Given the description of an element on the screen output the (x, y) to click on. 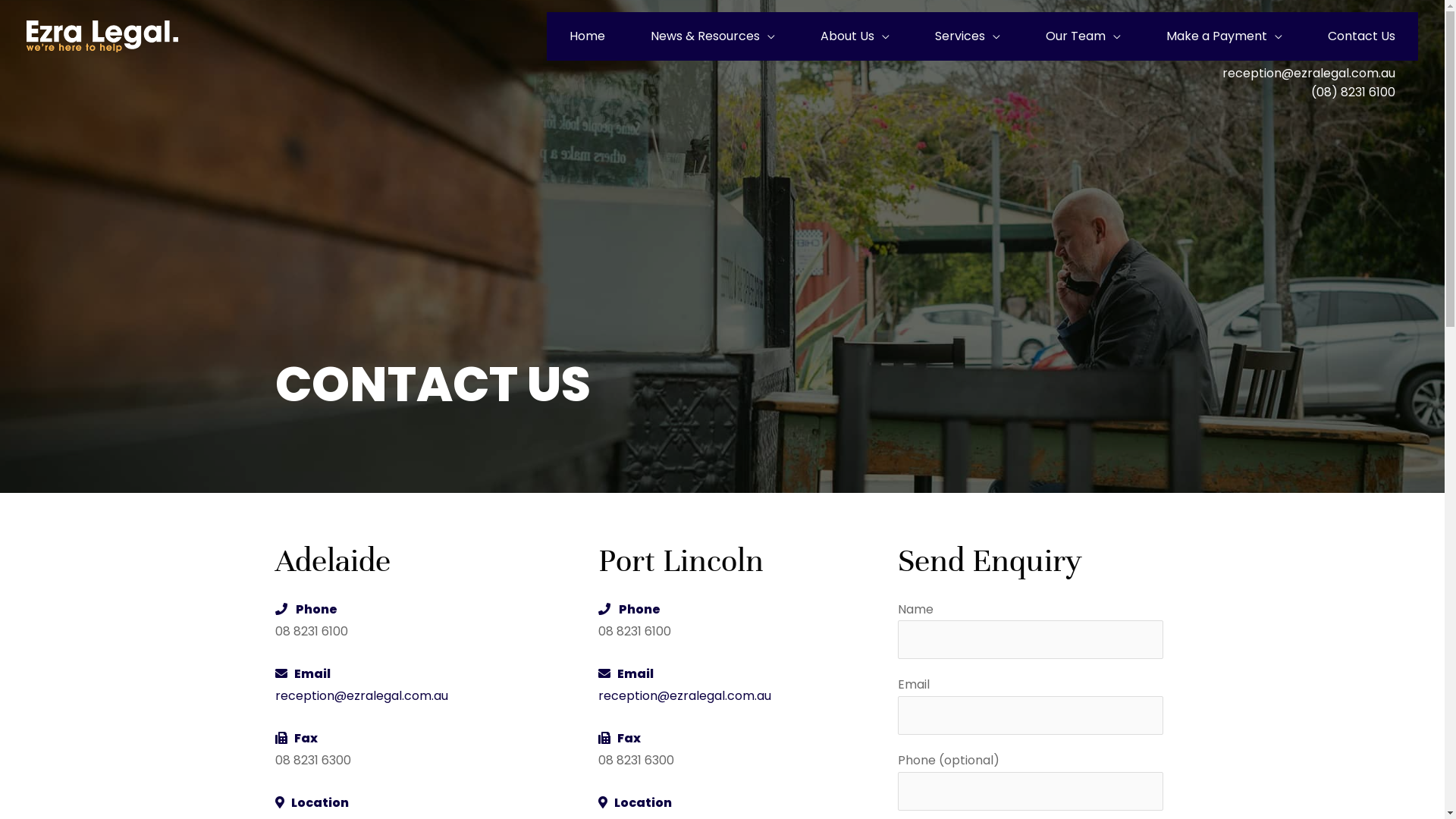
reception@ezralegal.com.au Element type: text (1308, 73)
Make a Payment Element type: text (1224, 36)
News & Resources Element type: text (712, 36)
(08) 8231 6100 Element type: text (1353, 92)
Home Element type: text (586, 36)
reception@ezralegal.com.au Element type: text (684, 695)
Contact Us Element type: text (1361, 36)
Our Team Element type: text (1082, 36)
reception@ezralegal.com.au Element type: text (360, 695)
Services Element type: text (967, 36)
About Us Element type: text (854, 36)
